Given the description of an element on the screen output the (x, y) to click on. 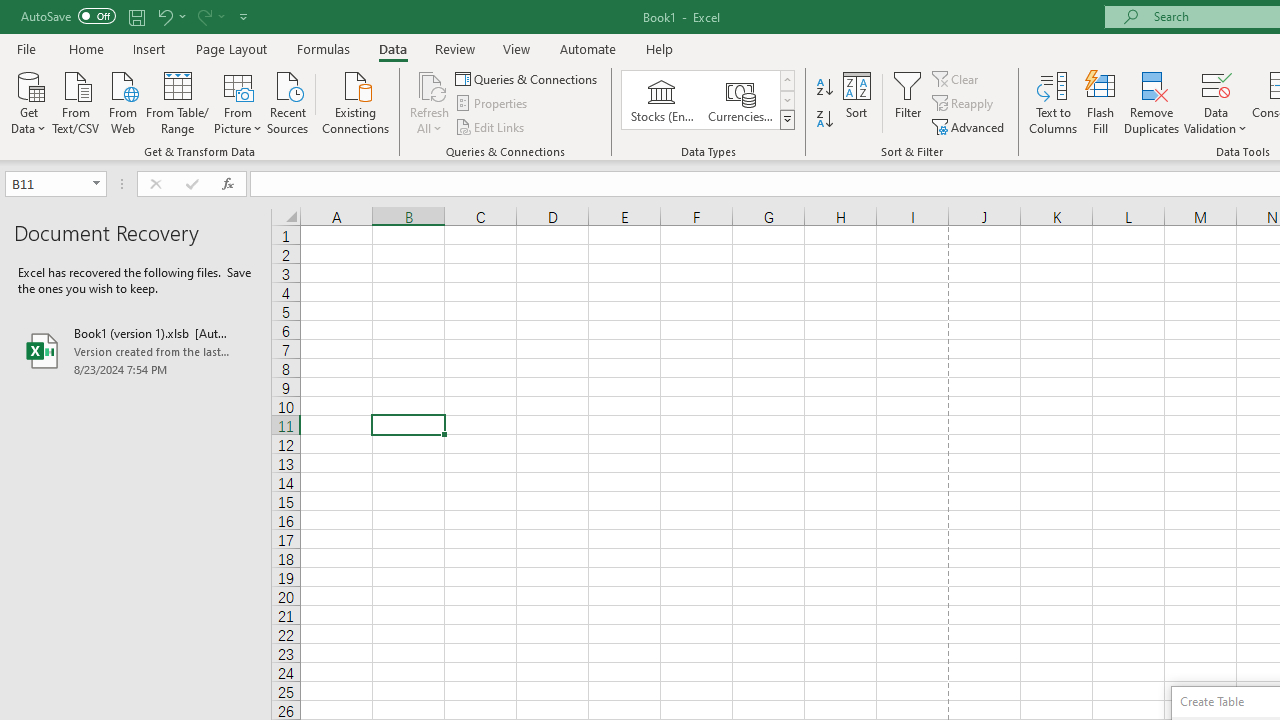
Properties (492, 103)
Reapply (964, 103)
Text to Columns... (1053, 102)
Edit Links (491, 126)
From Web (122, 101)
